Given the description of an element on the screen output the (x, y) to click on. 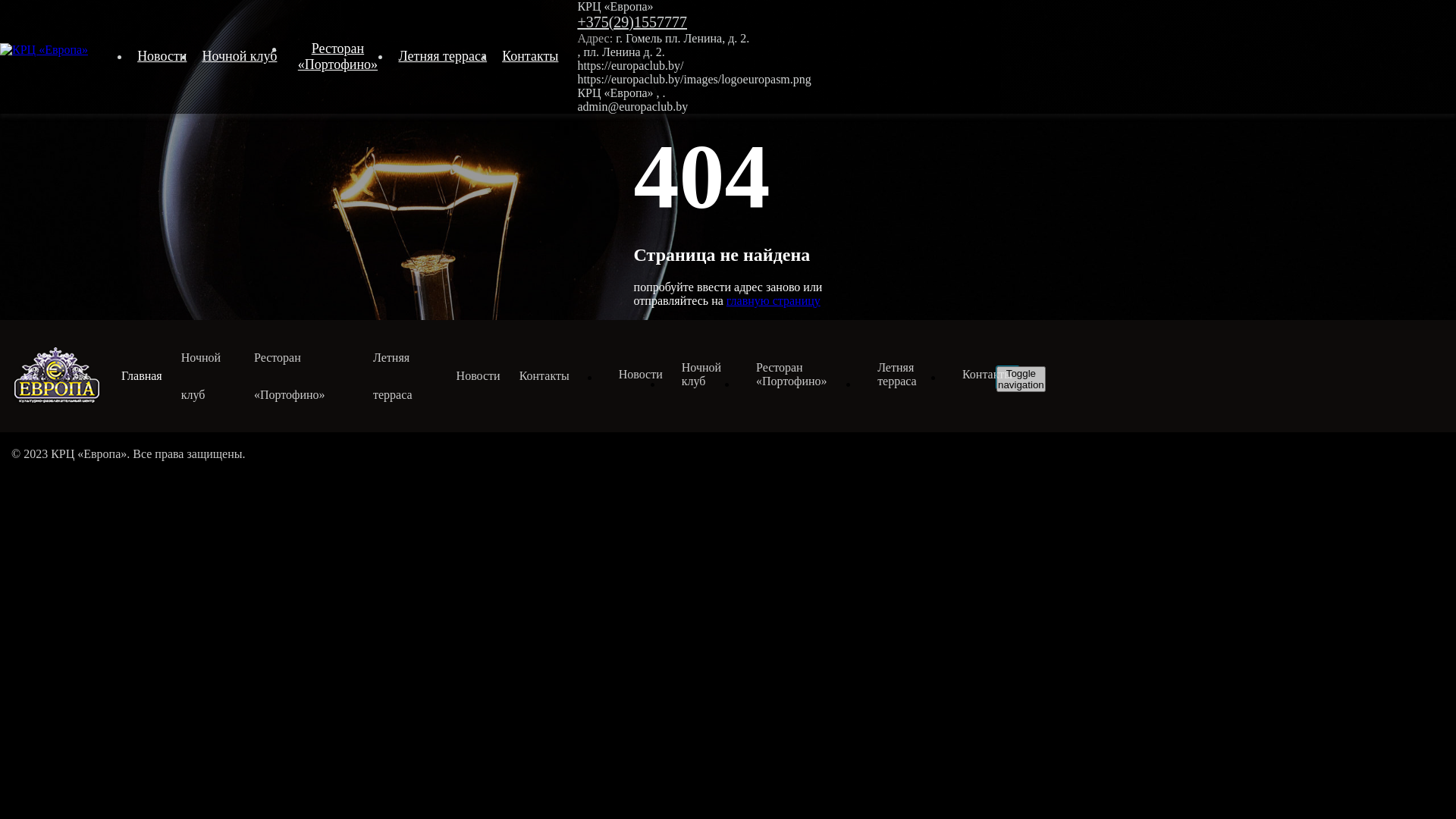
Toggle navigation Element type: text (1020, 379)
+375(29)1557777 Element type: text (632, 21)
